Given the description of an element on the screen output the (x, y) to click on. 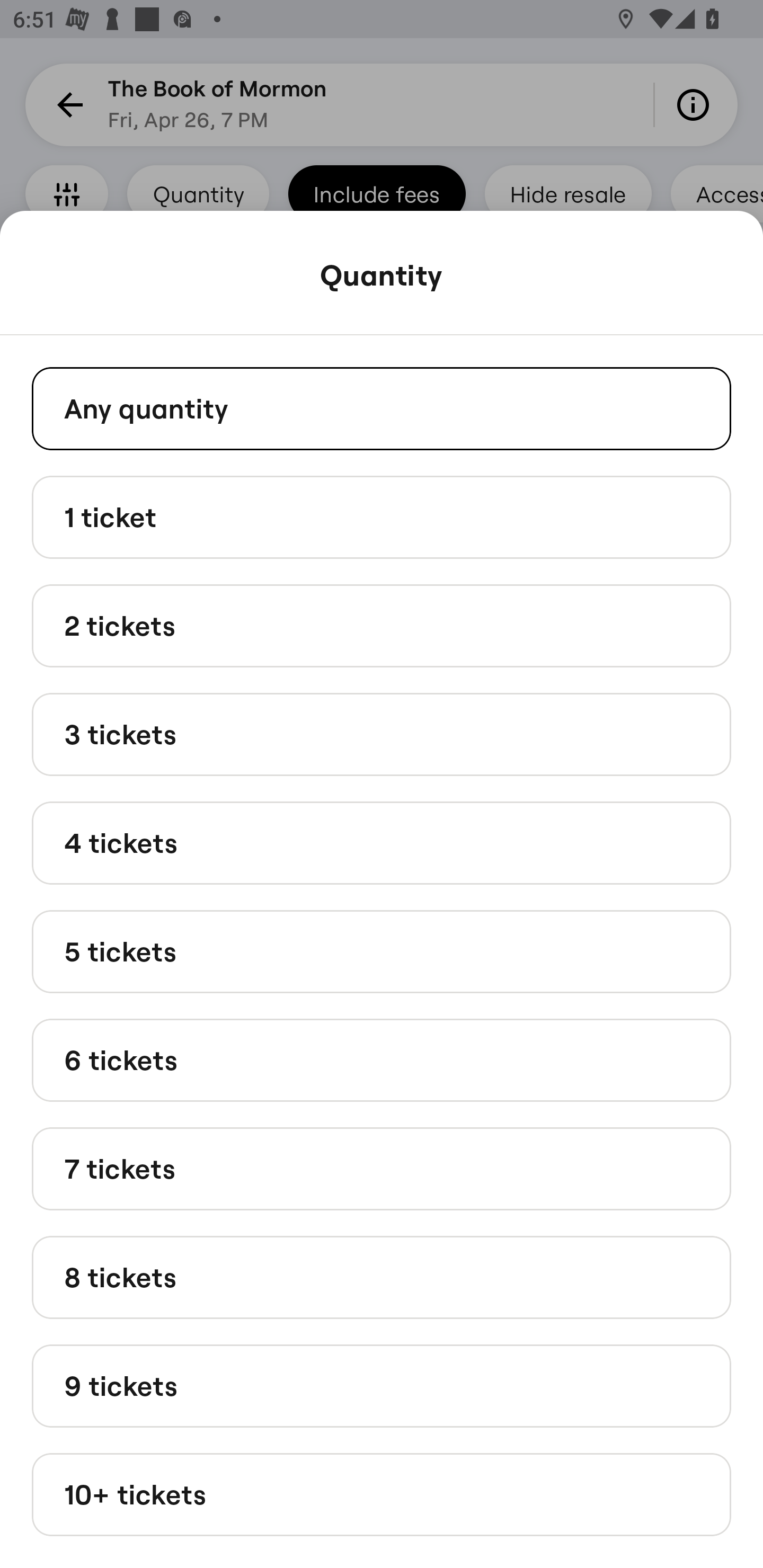
Any quantity (381, 408)
1 ticket (381, 516)
2 tickets (381, 625)
3 tickets (381, 734)
4 tickets (381, 842)
5 tickets (381, 950)
6 tickets (381, 1060)
7 tickets (381, 1168)
8 tickets (381, 1276)
9 tickets (381, 1384)
10+ tickets (381, 1494)
